Given the description of an element on the screen output the (x, y) to click on. 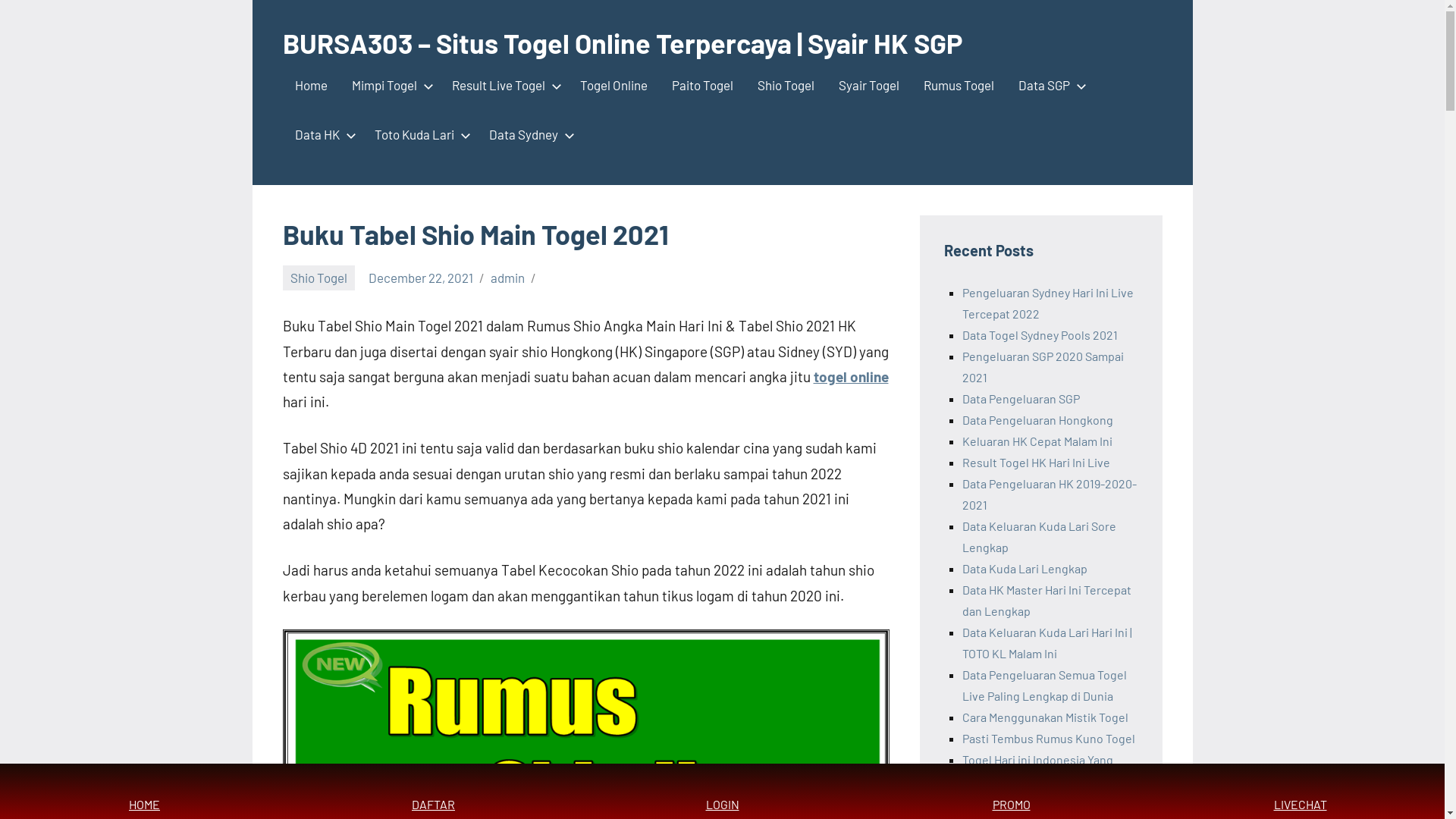
Paito Togel Element type: text (702, 86)
Syair Togel Element type: text (868, 86)
Data Togel Sydney Pools 2021 Element type: text (1039, 334)
Data Pengeluaran Semua Togel Live Paling Lengkap di Dunia Element type: text (1043, 684)
Togel Hari ini Indonesia Yang Keluar Element type: text (1036, 769)
LOGIN Element type: text (721, 791)
Result Togel HK Hari Ini Live Element type: text (1035, 462)
Pasti Tembus Rumus Kuno Togel Element type: text (1047, 738)
Data Pengeluaran HK 2019-2020-2021 Element type: text (1048, 493)
Data HK Element type: text (321, 135)
Result Live Togel Element type: text (503, 86)
DAFTAR Element type: text (432, 791)
Cara Menggunakan Mistik Togel Element type: text (1044, 716)
Pengeluaran Sydney Hari Ini Live Tercepat 2022 Element type: text (1046, 302)
Data Keluaran Kuda Lari Sore Lengkap Element type: text (1038, 536)
PROMO Element type: text (1010, 791)
HOME Element type: text (144, 791)
Pengeluaran SGP 2020 Sampai 2021 Element type: text (1042, 366)
Data Pengeluaran SGP Element type: text (1020, 398)
Data Kuda Lari Lengkap Element type: text (1023, 568)
Data Keluaran Kuda Lari Hari Ini | TOTO KL Malam Ini Element type: text (1046, 642)
Shio Togel Element type: text (784, 86)
Shio Togel Element type: text (318, 277)
Rumus Togel Element type: text (958, 86)
admin Element type: text (507, 277)
Data Pengeluaran Hongkong Element type: text (1036, 419)
Home Element type: text (310, 86)
Mimpi Togel Element type: text (389, 86)
togel online Element type: text (850, 376)
December 22, 2021 Element type: text (420, 277)
Toto Kuda Lari Element type: text (419, 135)
LIVECHAT Element type: text (1299, 791)
Data SGP Element type: text (1048, 86)
Togel Online Element type: text (612, 86)
Keluaran HK Cepat Malam Ini Element type: text (1036, 440)
Data HK Master Hari Ini Tercepat dan Lengkap Element type: text (1045, 600)
Data Sydney Element type: text (527, 135)
